Given the description of an element on the screen output the (x, y) to click on. 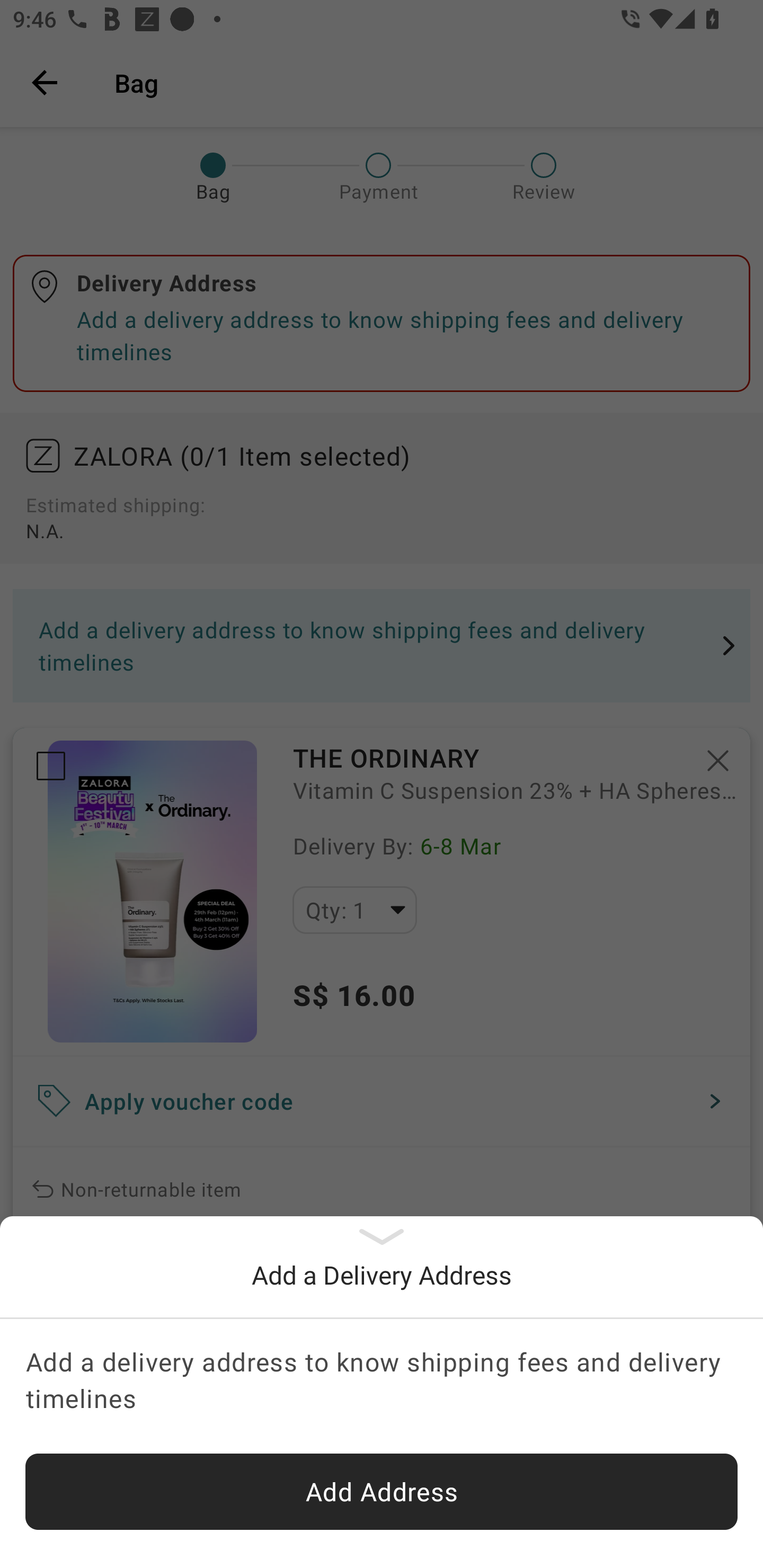
Add Address (381, 1491)
